Given the description of an element on the screen output the (x, y) to click on. 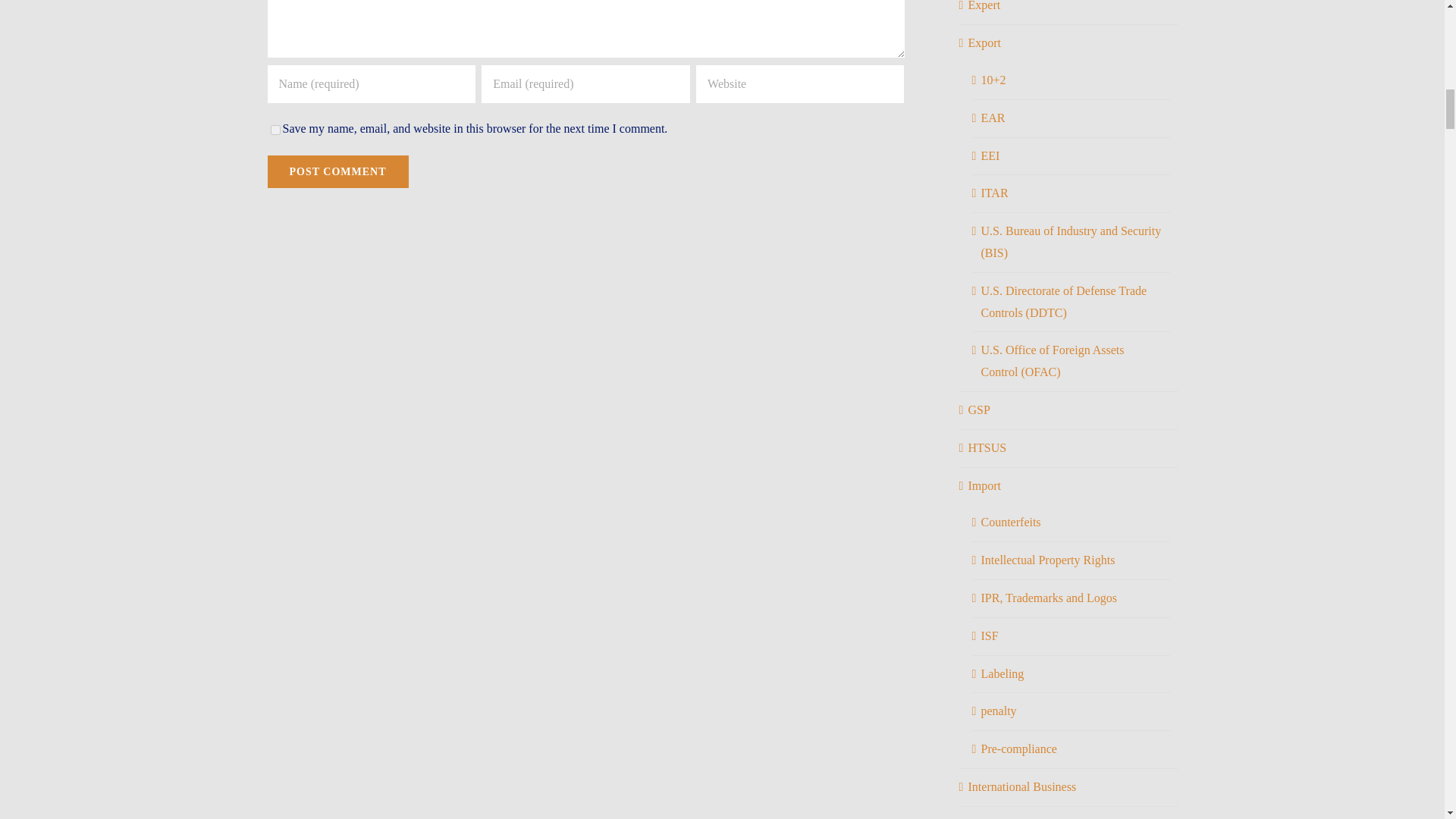
yes (274, 130)
Post Comment (336, 171)
